Given the description of an element on the screen output the (x, y) to click on. 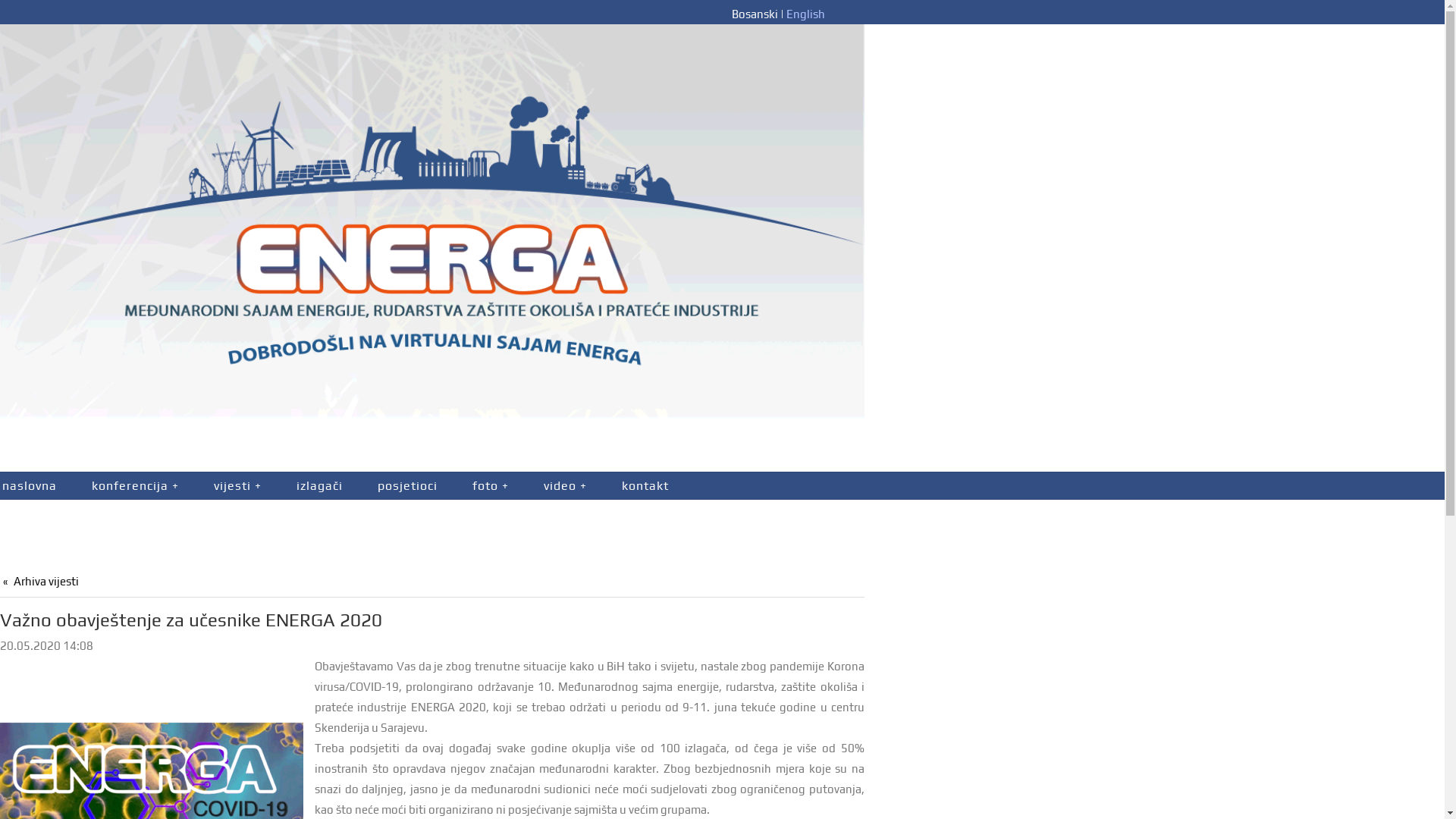
video Element type: text (565, 485)
English Element type: text (805, 13)
konferencija Element type: text (135, 485)
Arhiva vijesti Element type: text (40, 581)
naslovna Element type: text (37, 485)
posjetioci Element type: text (407, 485)
foto Element type: text (490, 485)
vijesti Element type: text (237, 485)
kontakt Element type: text (645, 485)
